Given the description of an element on the screen output the (x, y) to click on. 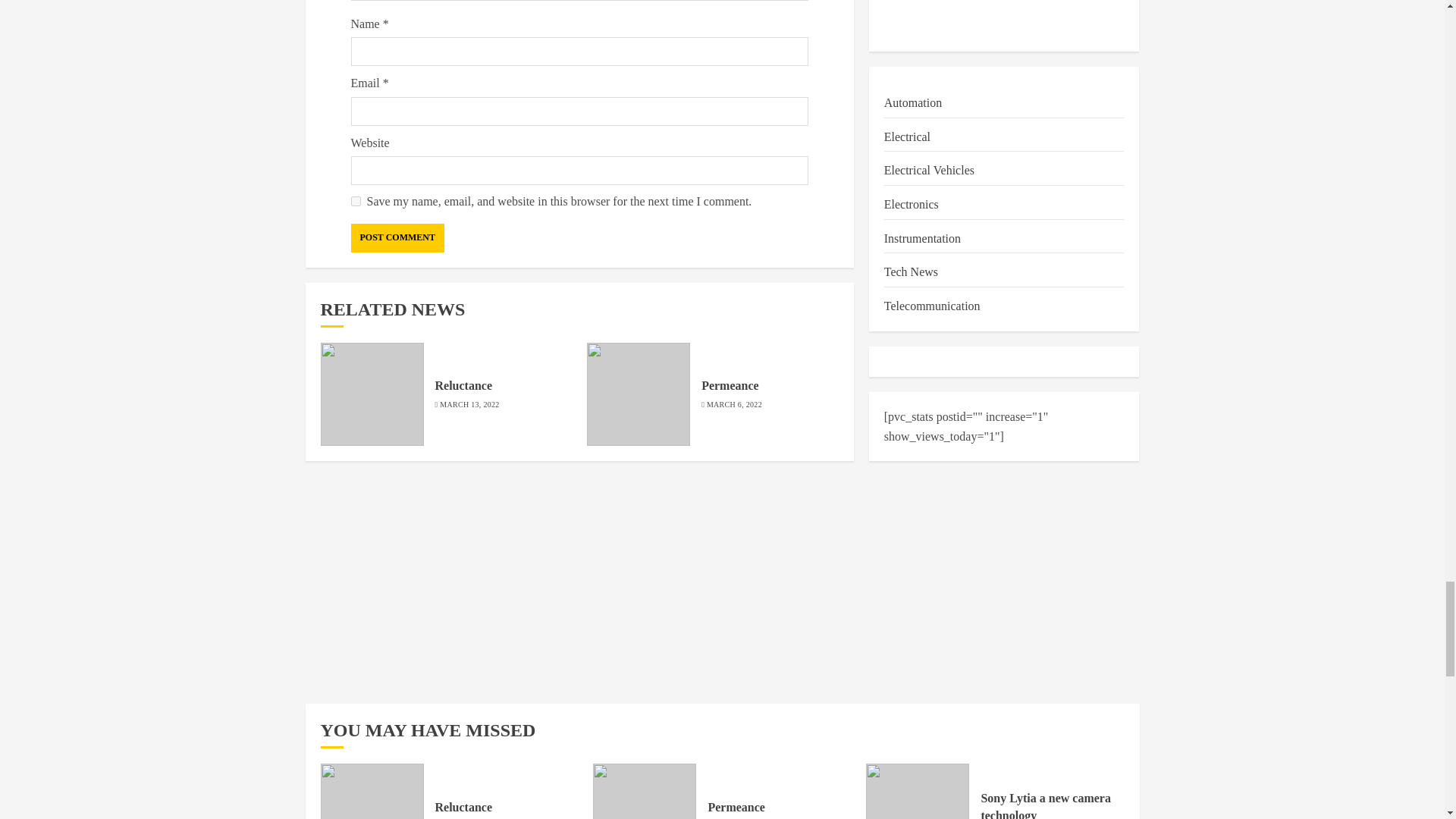
MARCH 13, 2022 (469, 404)
Post Comment (397, 237)
Reluctance (464, 386)
MARCH 6, 2022 (733, 404)
Post Comment (397, 237)
yes (354, 201)
Permeance (729, 386)
